Given the description of an element on the screen output the (x, y) to click on. 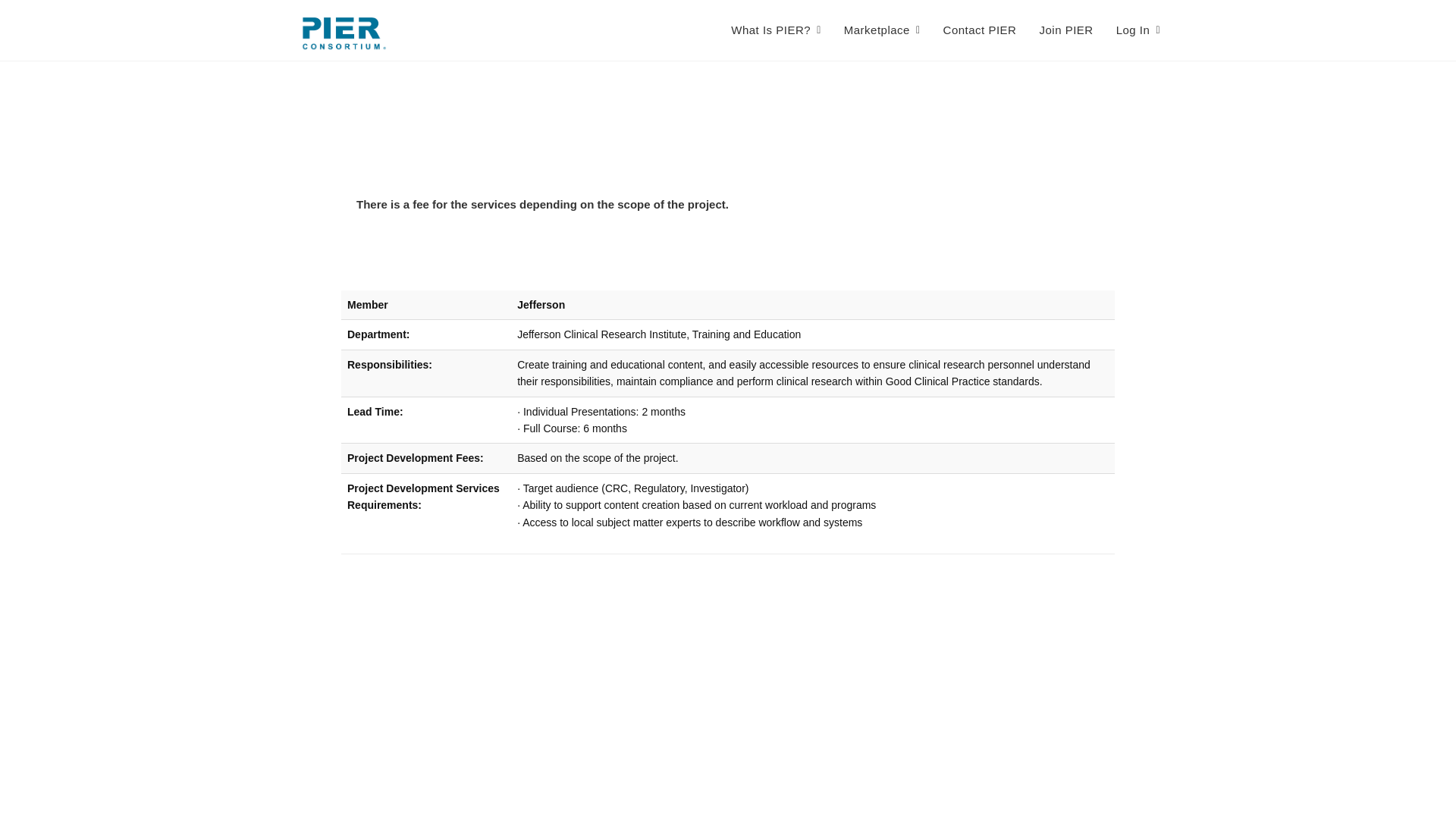
Marketplace (882, 30)
Log In (1138, 30)
Contact PIER (979, 30)
What Is PIER? (775, 30)
Join PIER (1066, 30)
